Given the description of an element on the screen output the (x, y) to click on. 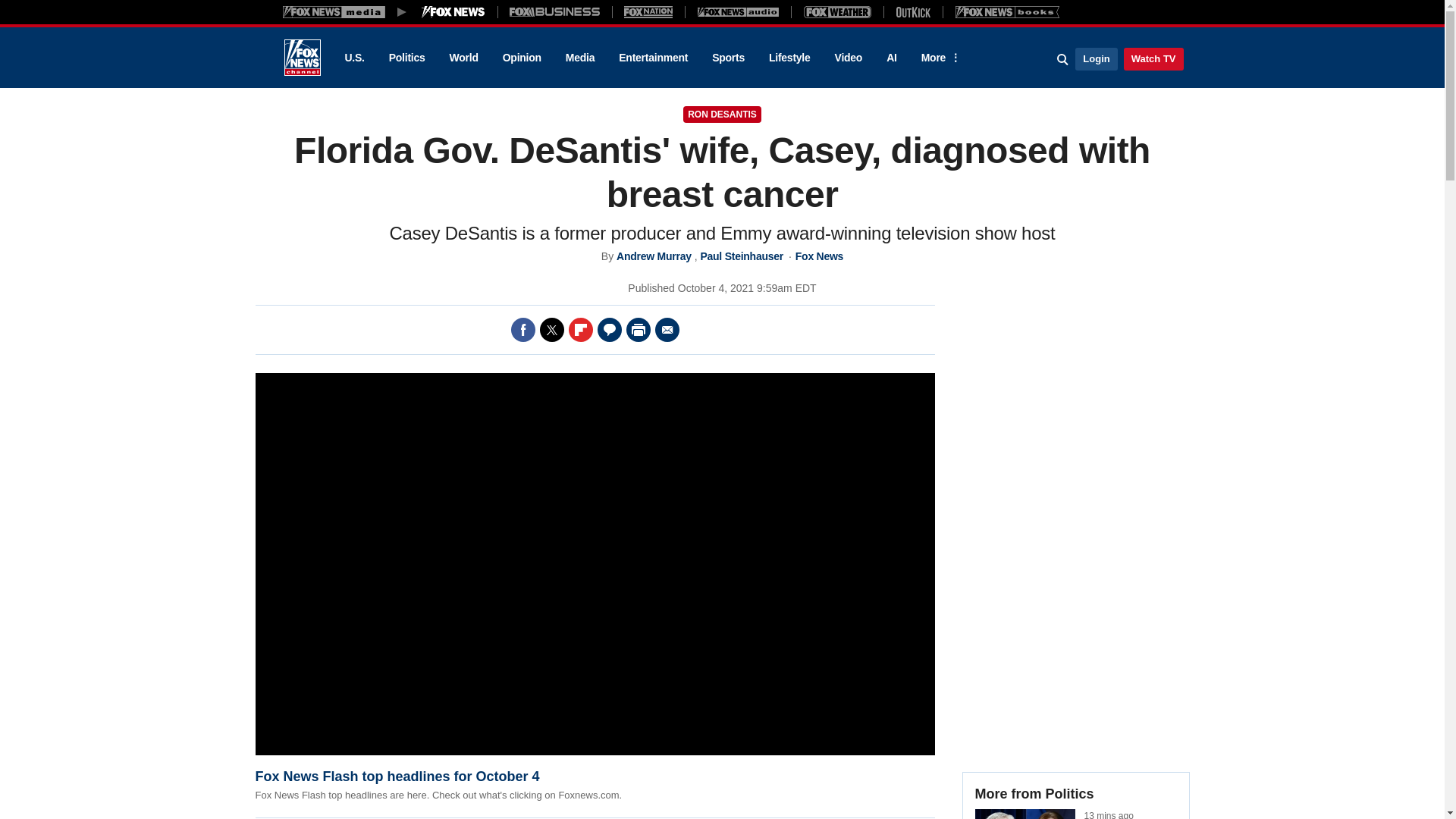
Politics (407, 57)
More (938, 57)
Fox News (301, 57)
Lifestyle (789, 57)
World (464, 57)
Media (580, 57)
Login (1095, 58)
U.S. (353, 57)
AI (891, 57)
Entertainment (653, 57)
Opinion (521, 57)
Video (848, 57)
Fox News Media (453, 11)
Sports (728, 57)
Fox Nation (648, 11)
